Given the description of an element on the screen output the (x, y) to click on. 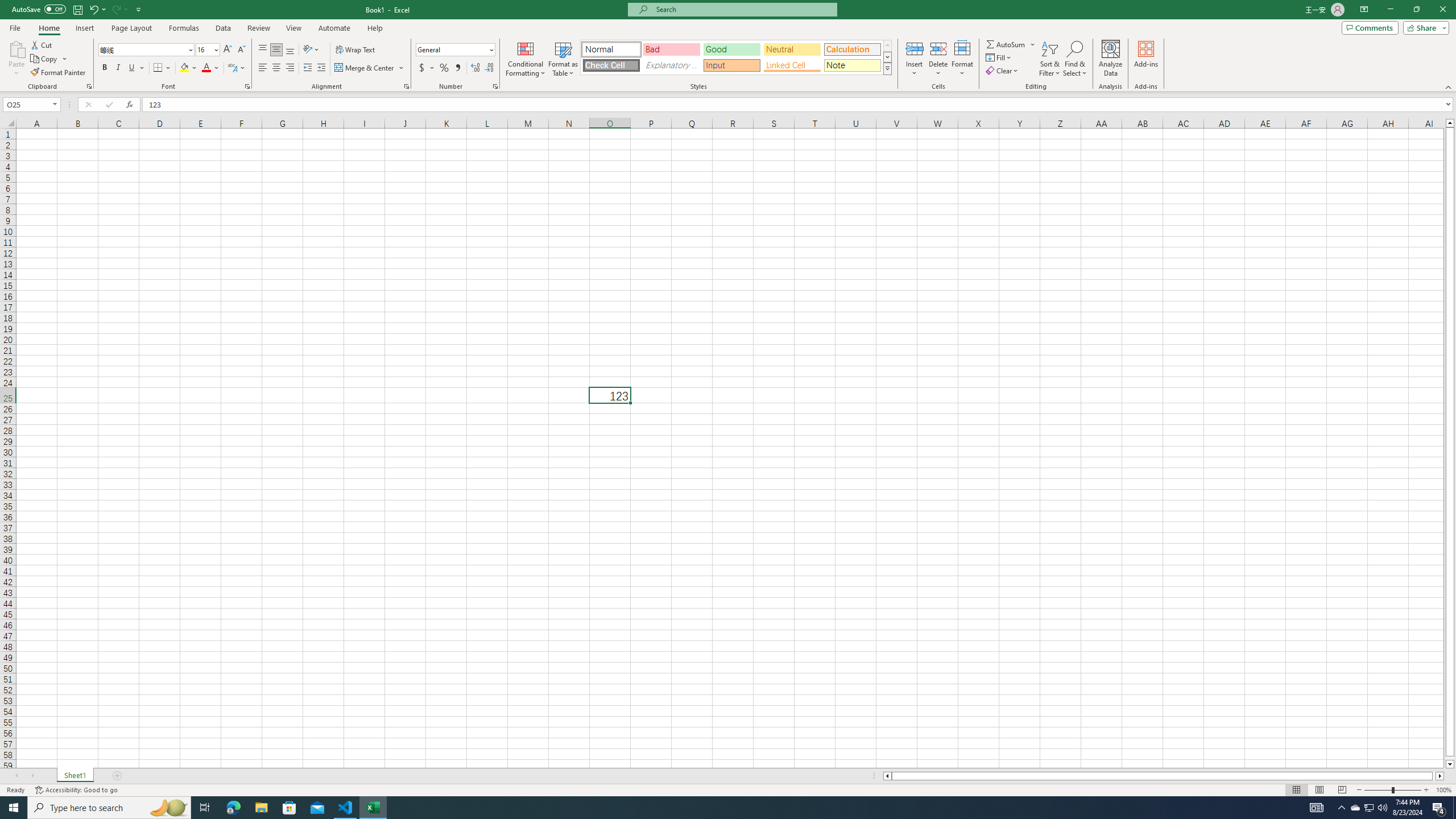
Copy (49, 58)
Neutral (791, 49)
Wrap Text (355, 49)
Format Cell Font (247, 85)
Italic (118, 67)
Top Align (262, 49)
Delete Cells... (938, 48)
